Given the description of an element on the screen output the (x, y) to click on. 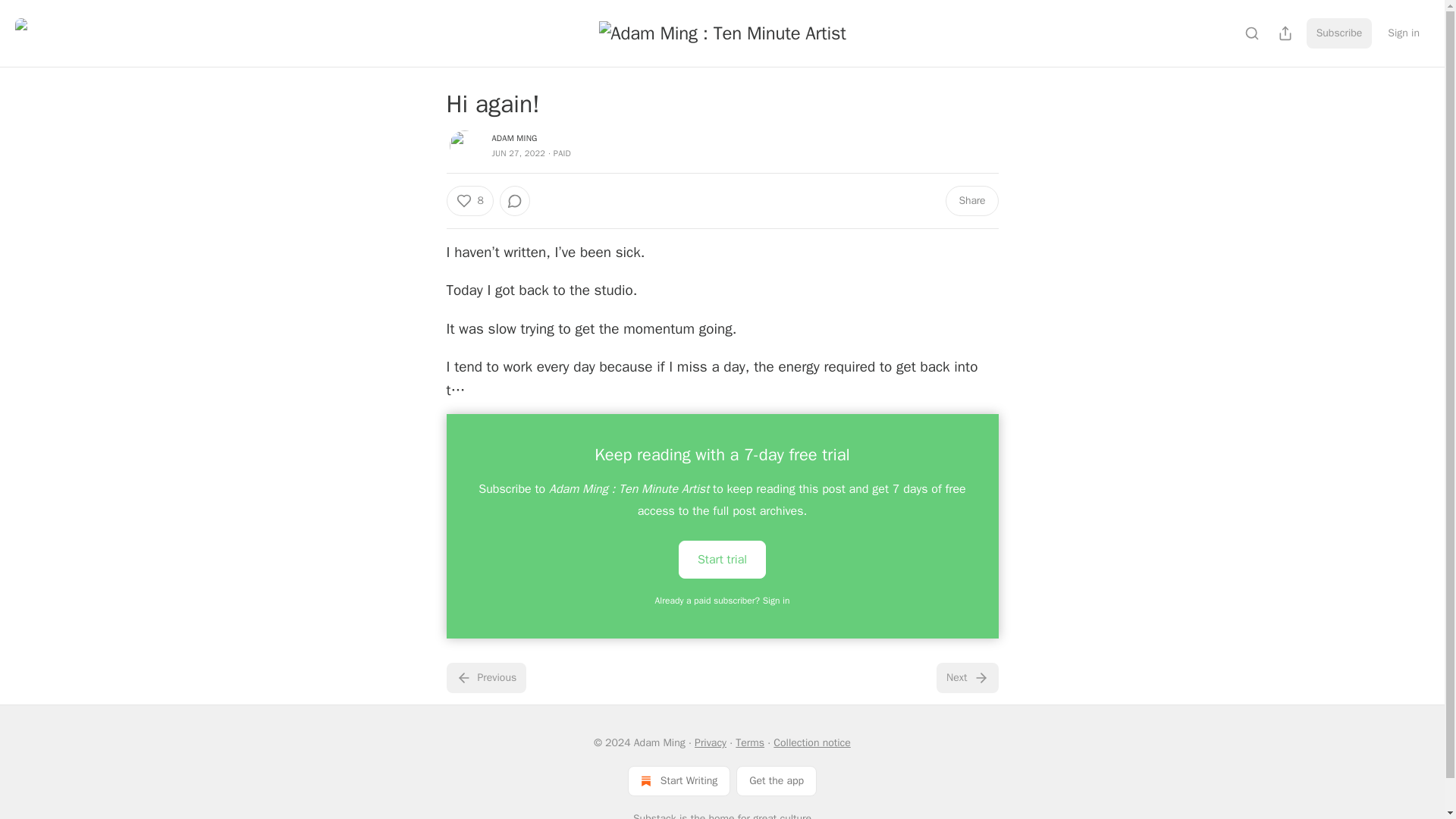
Start Writing (678, 780)
Start trial (721, 558)
Terms (749, 742)
Start trial (721, 559)
Privacy (710, 742)
Share (970, 200)
8 (469, 200)
ADAM MING (514, 137)
Next (966, 677)
Sign in (1403, 33)
